Given the description of an element on the screen output the (x, y) to click on. 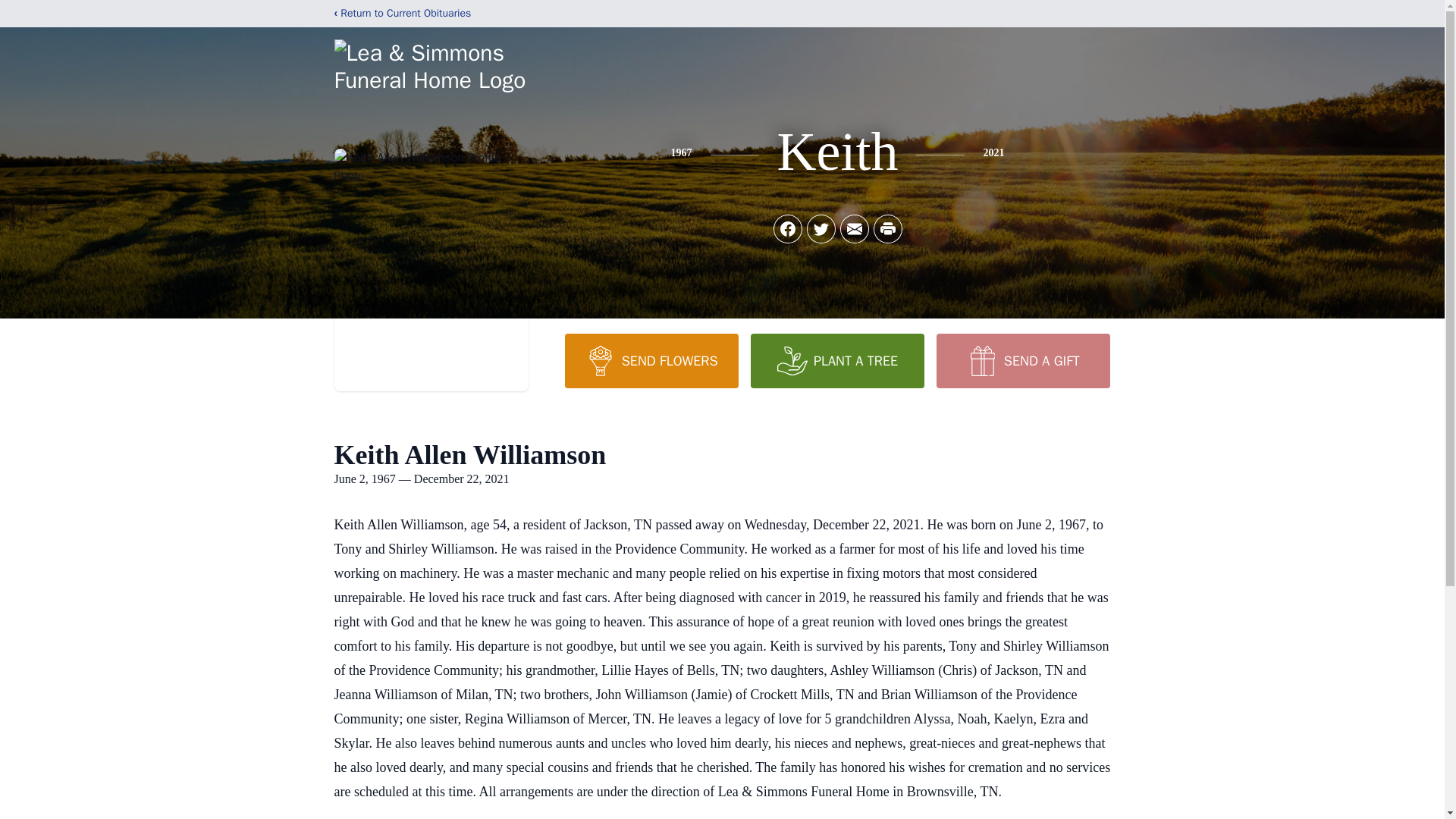
SEND A GIFT (1022, 360)
PLANT A TREE (837, 360)
SEND FLOWERS (651, 360)
